Given the description of an element on the screen output the (x, y) to click on. 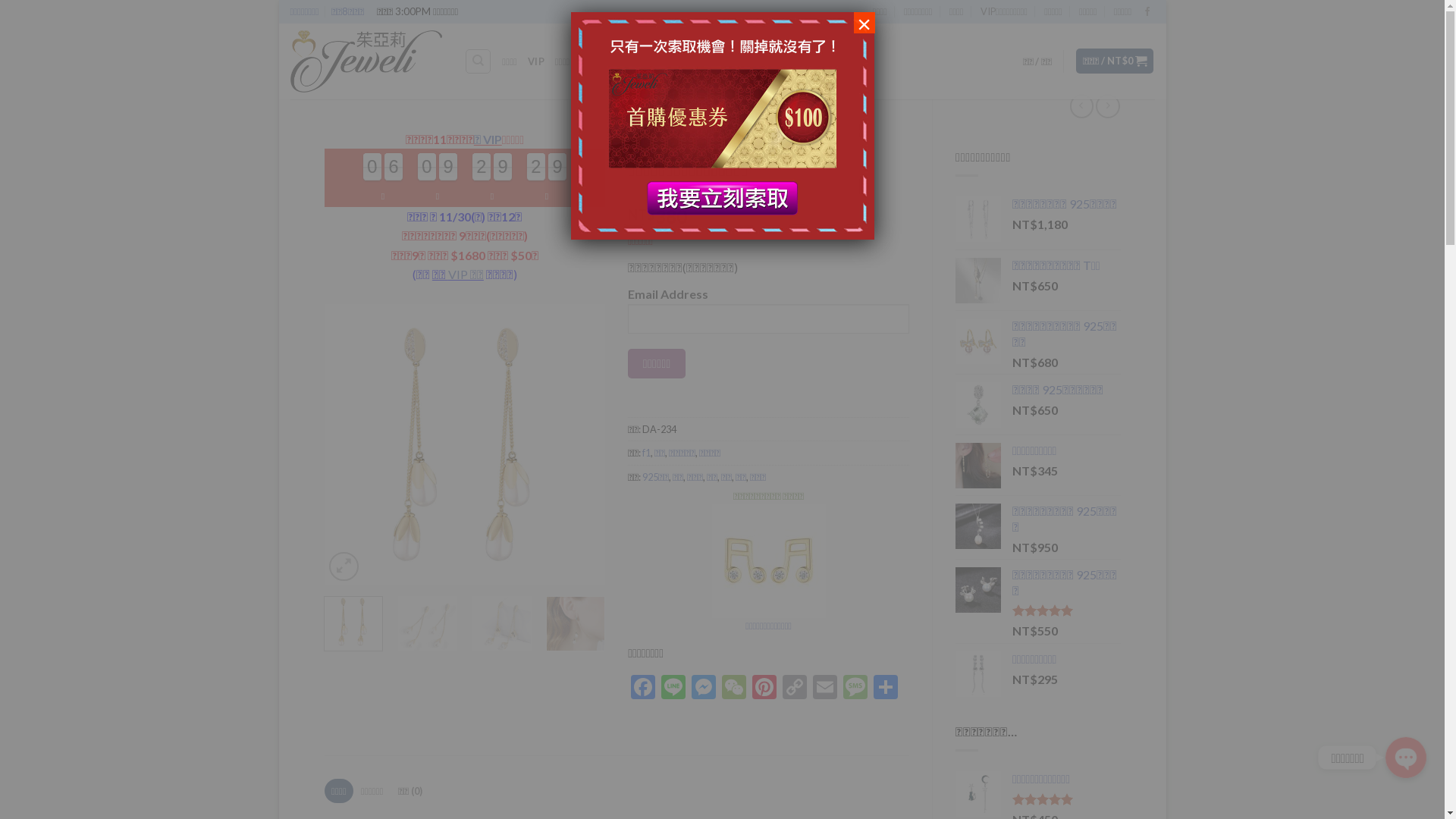
Facebook Element type: text (642, 688)
VIP Element type: text (535, 61)
Pinterest Element type: text (764, 688)
Message Element type: text (855, 688)
Zoom Element type: hover (343, 566)
f1 Element type: text (646, 452)
Follow on Facebook Element type: hover (1146, 11)
Copy Link Element type: text (794, 688)
Line Element type: text (673, 688)
WeChat Element type: text (733, 688)
Messenger Element type: text (703, 688)
Email Element type: text (824, 688)
